Given the description of an element on the screen output the (x, y) to click on. 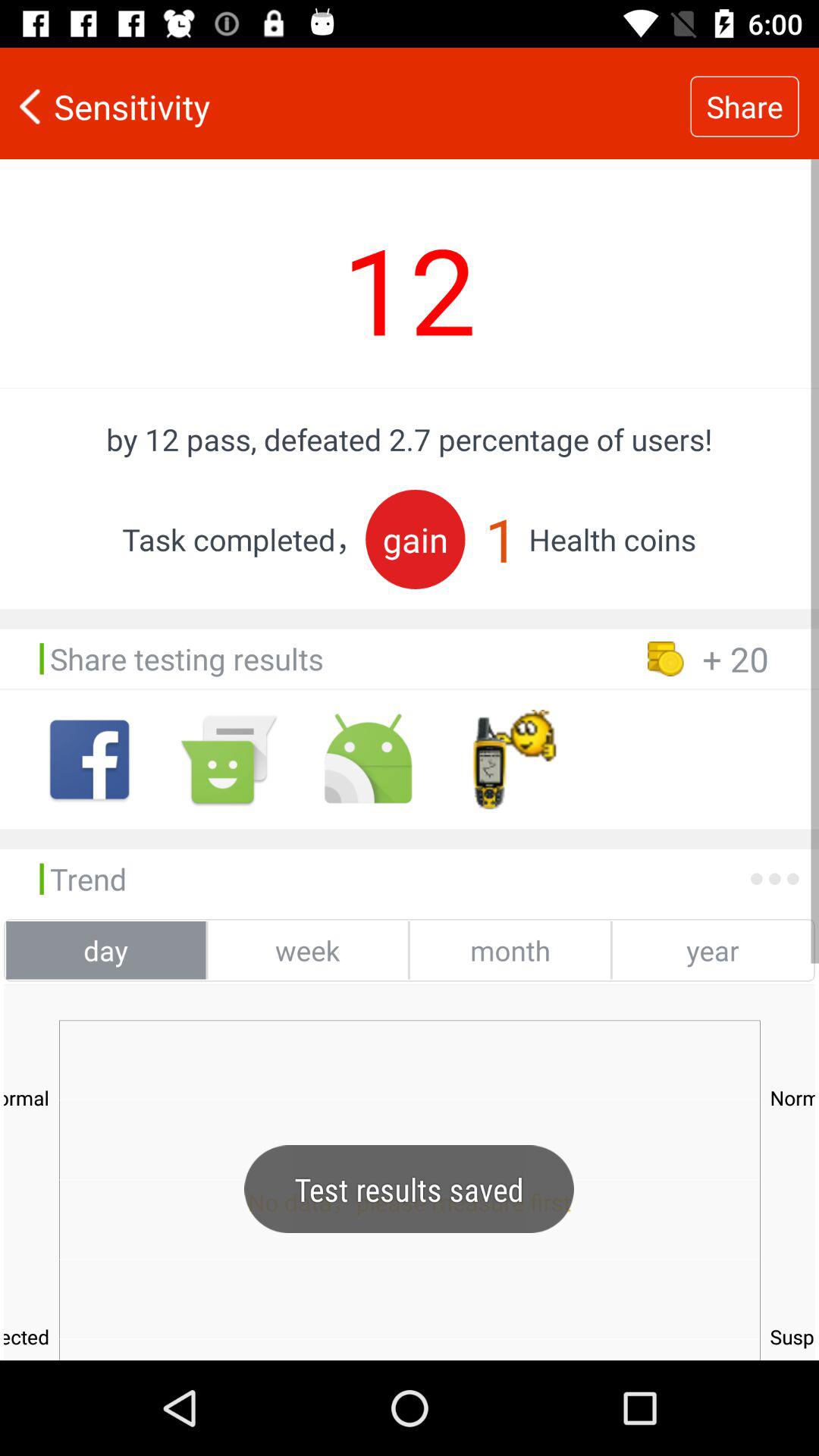
go to walkie talkie (507, 759)
